Given the description of an element on the screen output the (x, y) to click on. 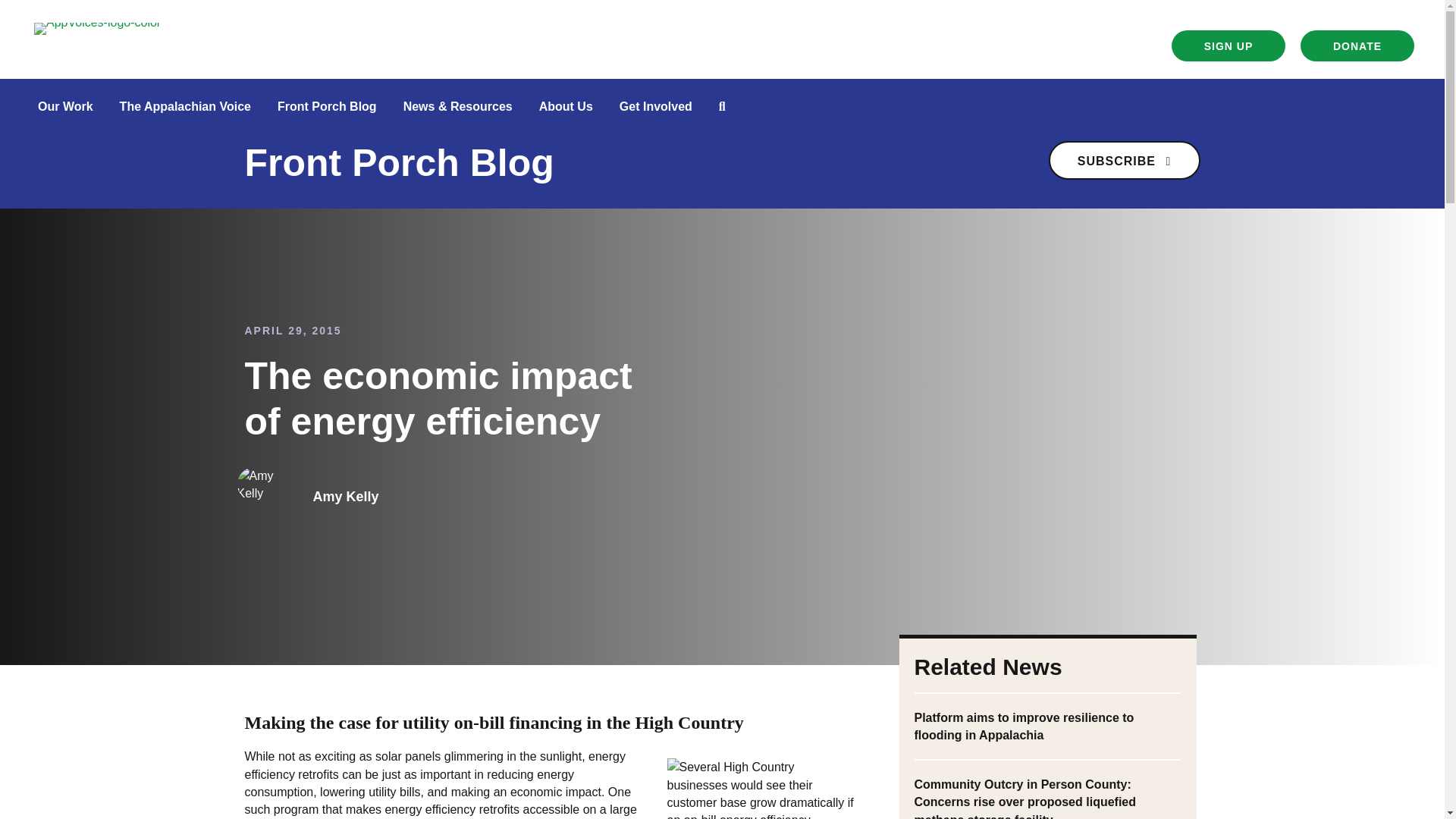
SIGN UP (1228, 45)
AppVoices-logo-color (96, 28)
DONATE (1356, 45)
Our Work (65, 106)
